Given the description of an element on the screen output the (x, y) to click on. 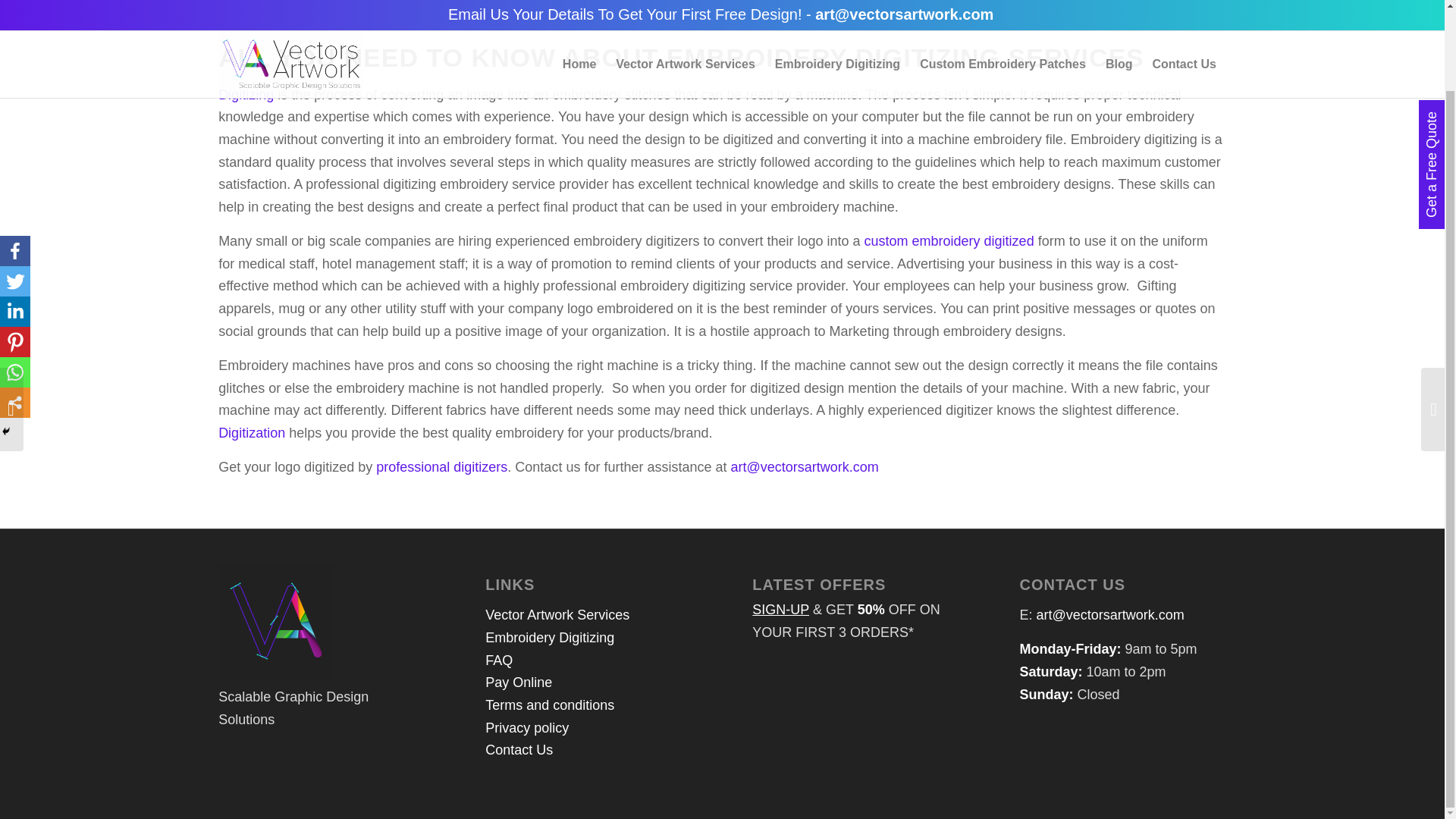
Pay Online (517, 682)
SIGN-UP (780, 609)
FAQ (498, 660)
Whatsapp (15, 281)
Pinterest (15, 250)
Digitizing (245, 94)
Hide (5, 340)
Terms and conditions (549, 704)
Privacy policy (526, 727)
Blog (1119, 3)
Vector Artwork Services (556, 614)
Vector Artwork Services (685, 3)
Linkedin (15, 220)
Home (579, 3)
custom embroidery digitized (948, 240)
